Given the description of an element on the screen output the (x, y) to click on. 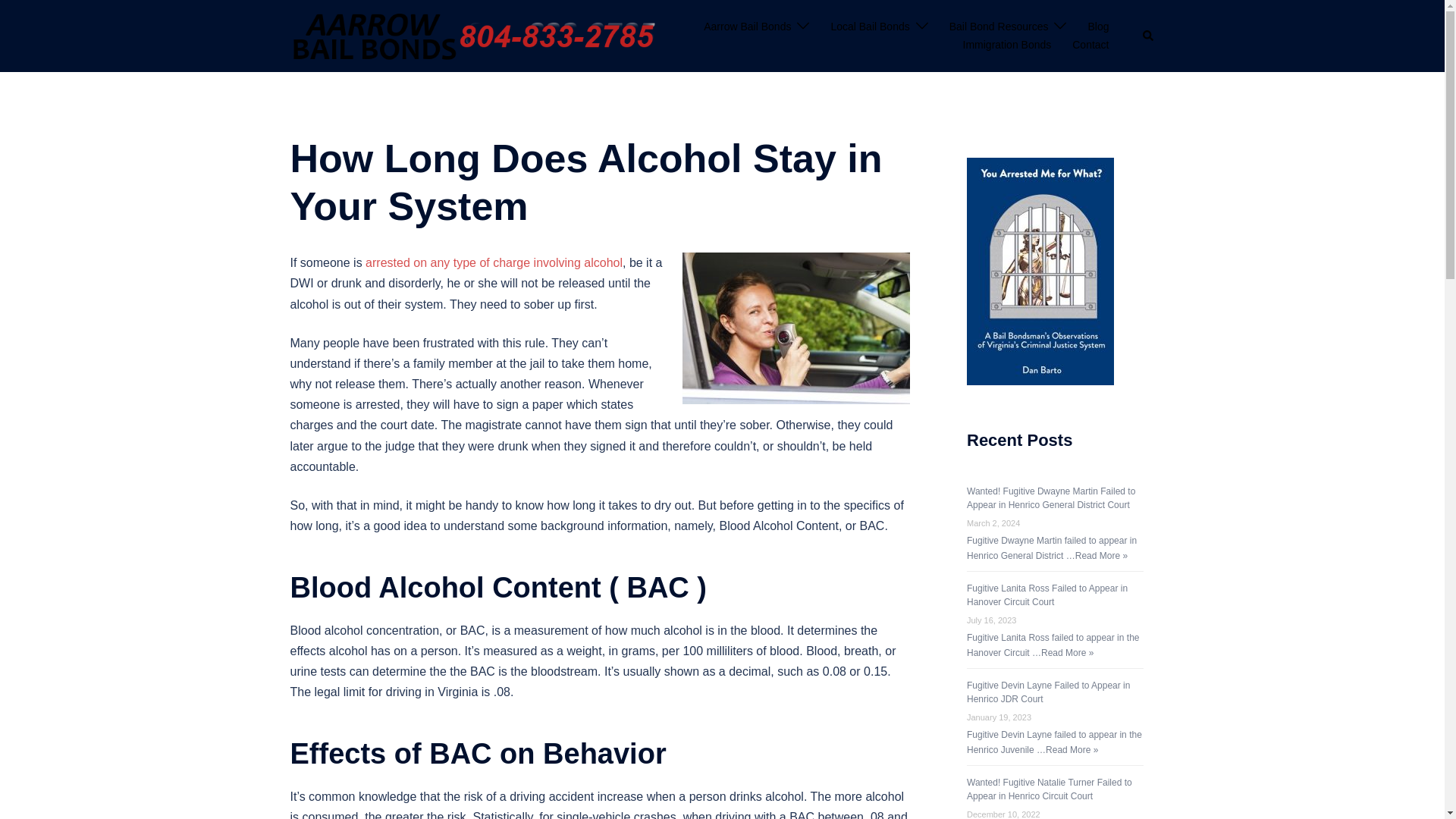
Blood Alcohol Content - CDC (494, 262)
Bail Bond Resources (998, 27)
Local Bail Bonds (868, 27)
Aarrow Bail Bonds (746, 27)
